Given the description of an element on the screen output the (x, y) to click on. 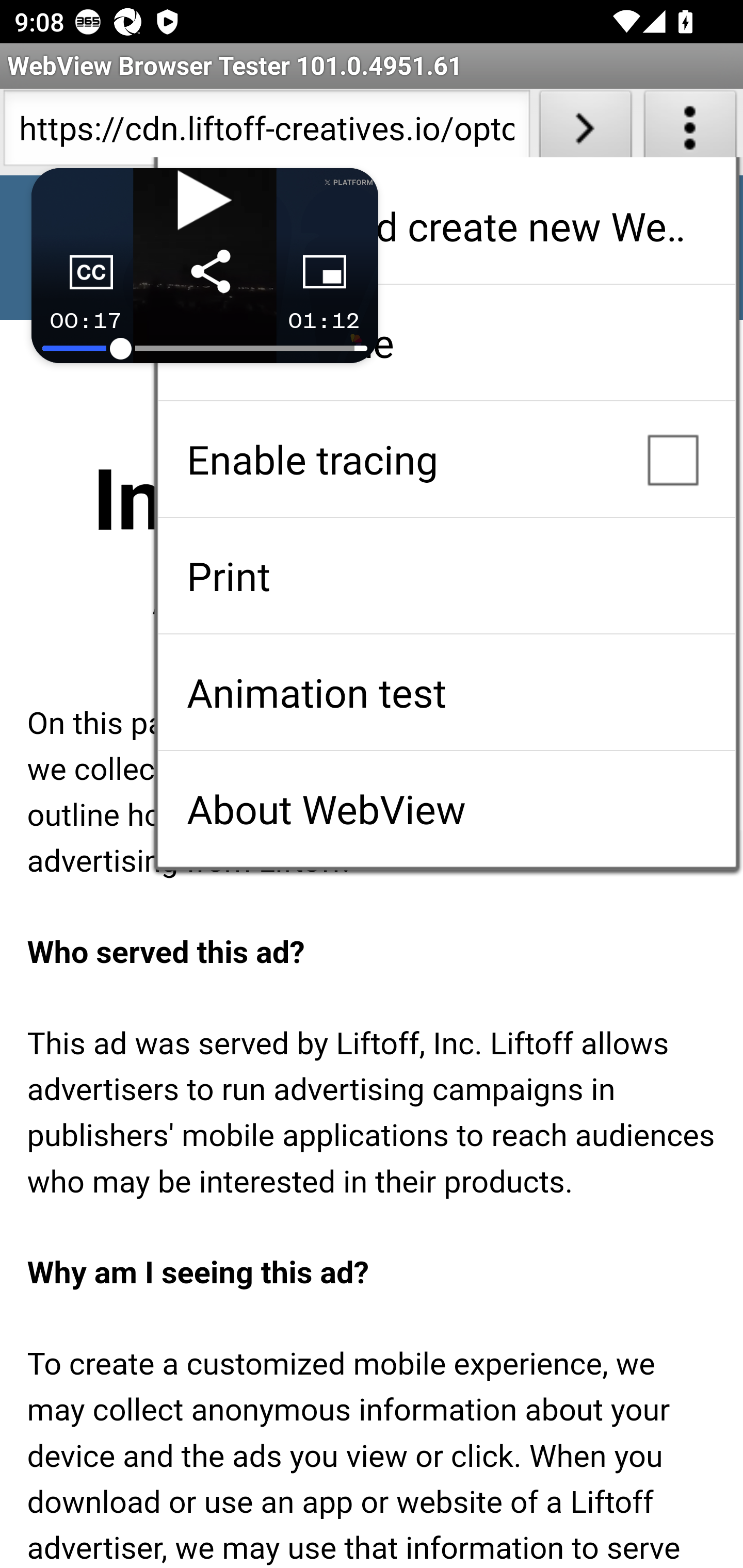
Destroy and create new WebView (446, 225)
Clear cache (446, 342)
Enable tracing (446, 459)
Print (446, 575)
Animation test (446, 692)
About WebView (446, 809)
